Given the description of an element on the screen output the (x, y) to click on. 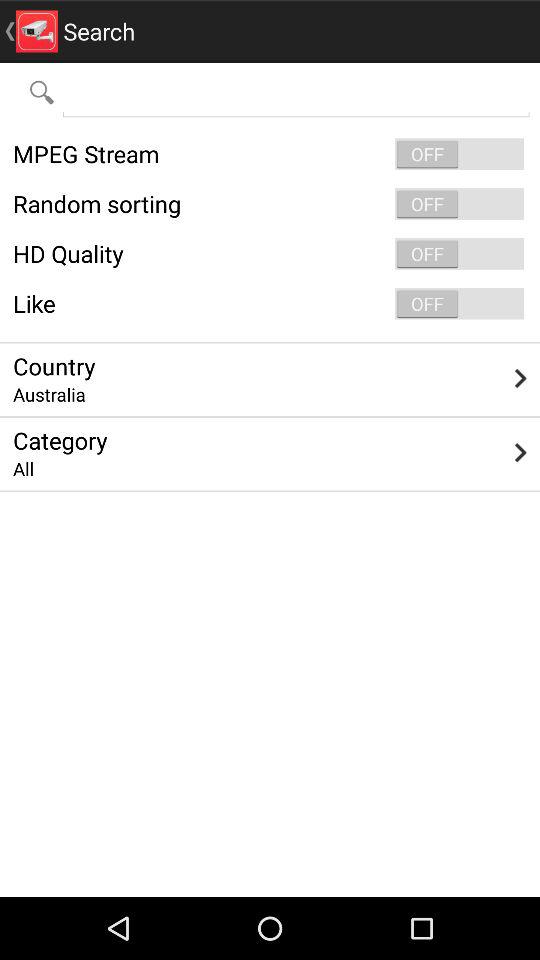
launch the icon above random sorting (269, 153)
